Given the description of an element on the screen output the (x, y) to click on. 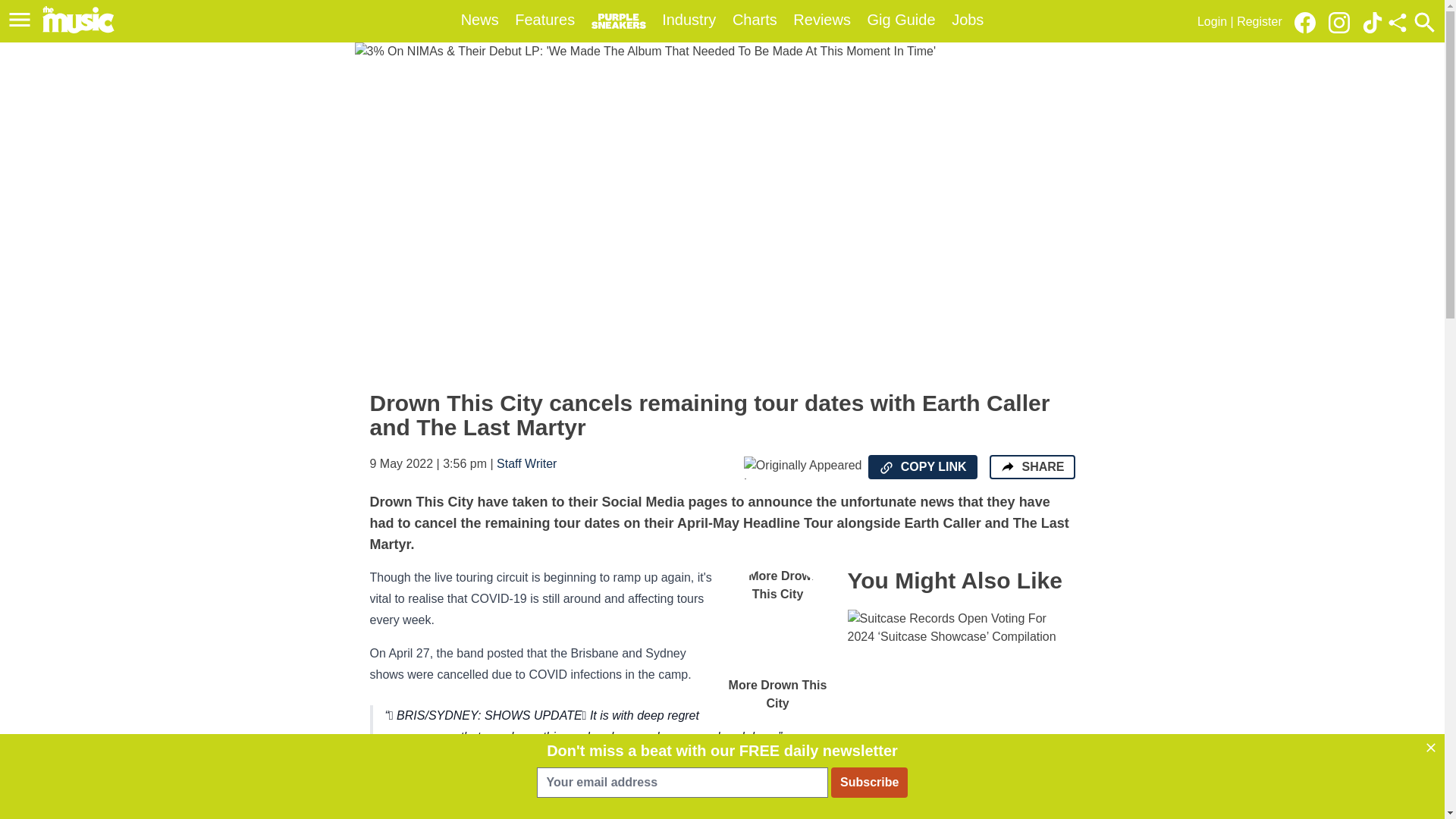
Link to our Instagram (1338, 22)
Link to our Facebook (1305, 22)
Link to our TikTok (1372, 21)
News (480, 19)
Register (1259, 21)
Features (545, 19)
Drown This City (488, 769)
Link to our Instagram (1342, 21)
Jobs (968, 19)
Copy the page URL (886, 467)
